Given the description of an element on the screen output the (x, y) to click on. 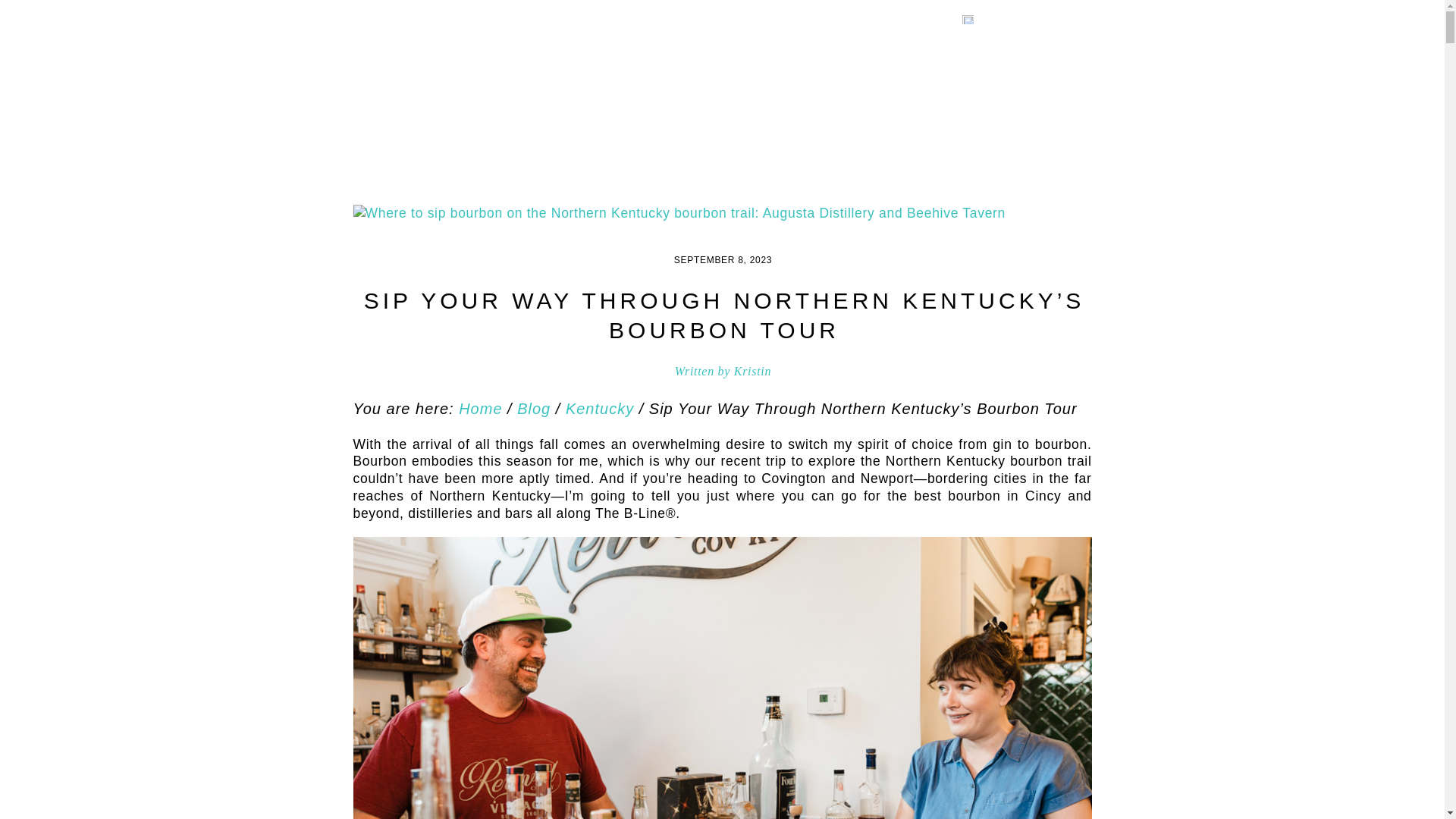
WRITING (751, 123)
2023-09-08 (722, 259)
Blog (533, 408)
WORK WITH ME (857, 123)
Kentucky (599, 408)
TOPICS (675, 123)
CONTACT (964, 123)
PLACES (600, 123)
BLOG (466, 123)
Home (480, 408)
